Given the description of an element on the screen output the (x, y) to click on. 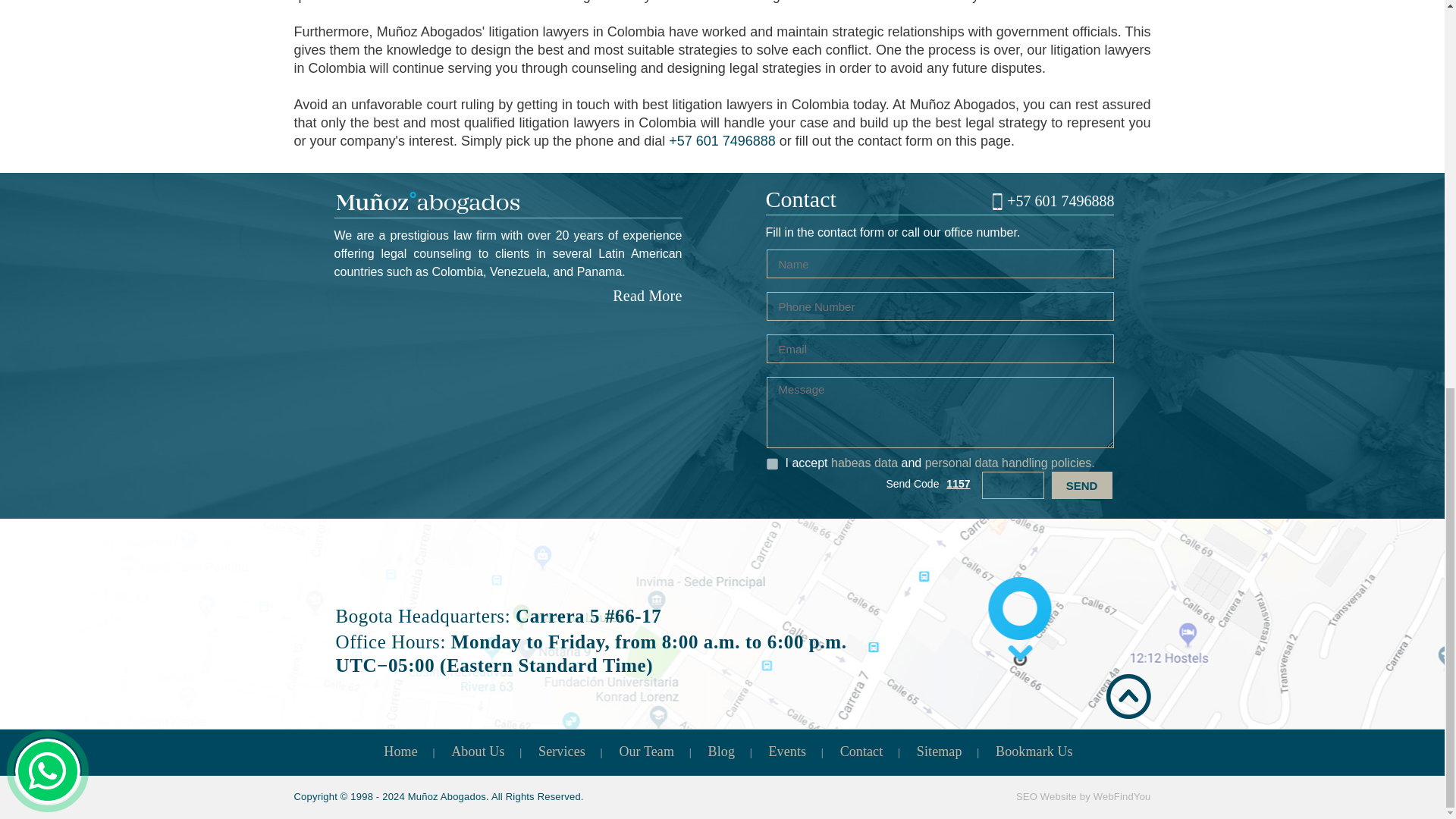
habeas data (864, 462)
Send (1081, 484)
Read More (646, 295)
